Given the description of an element on the screen output the (x, y) to click on. 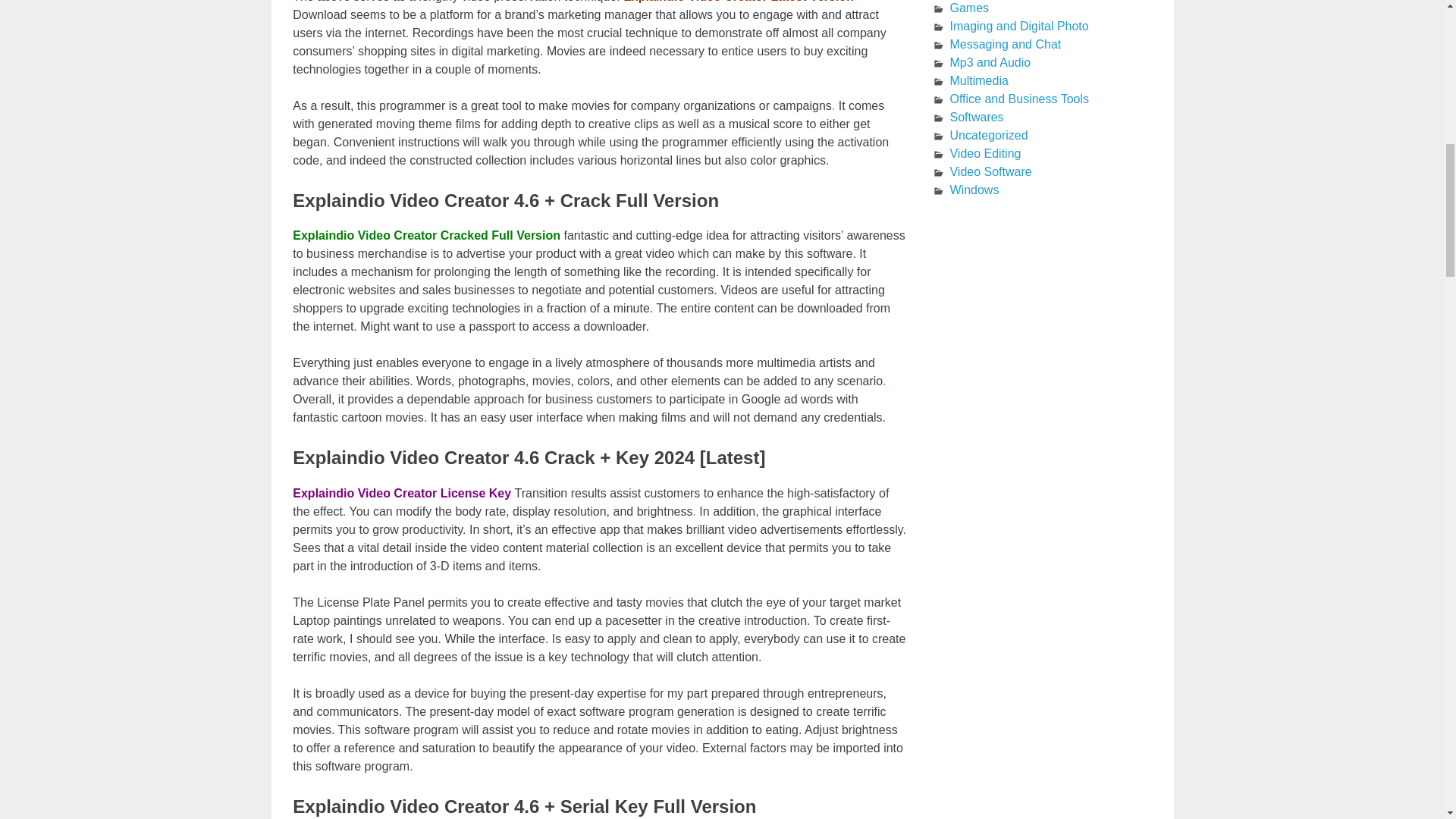
Explaindio Video Creator Cracked Full Version (426, 235)
Explaindio Video Creator License Key (402, 492)
Explaindio Video Creator Latest Version (738, 1)
